Given the description of an element on the screen output the (x, y) to click on. 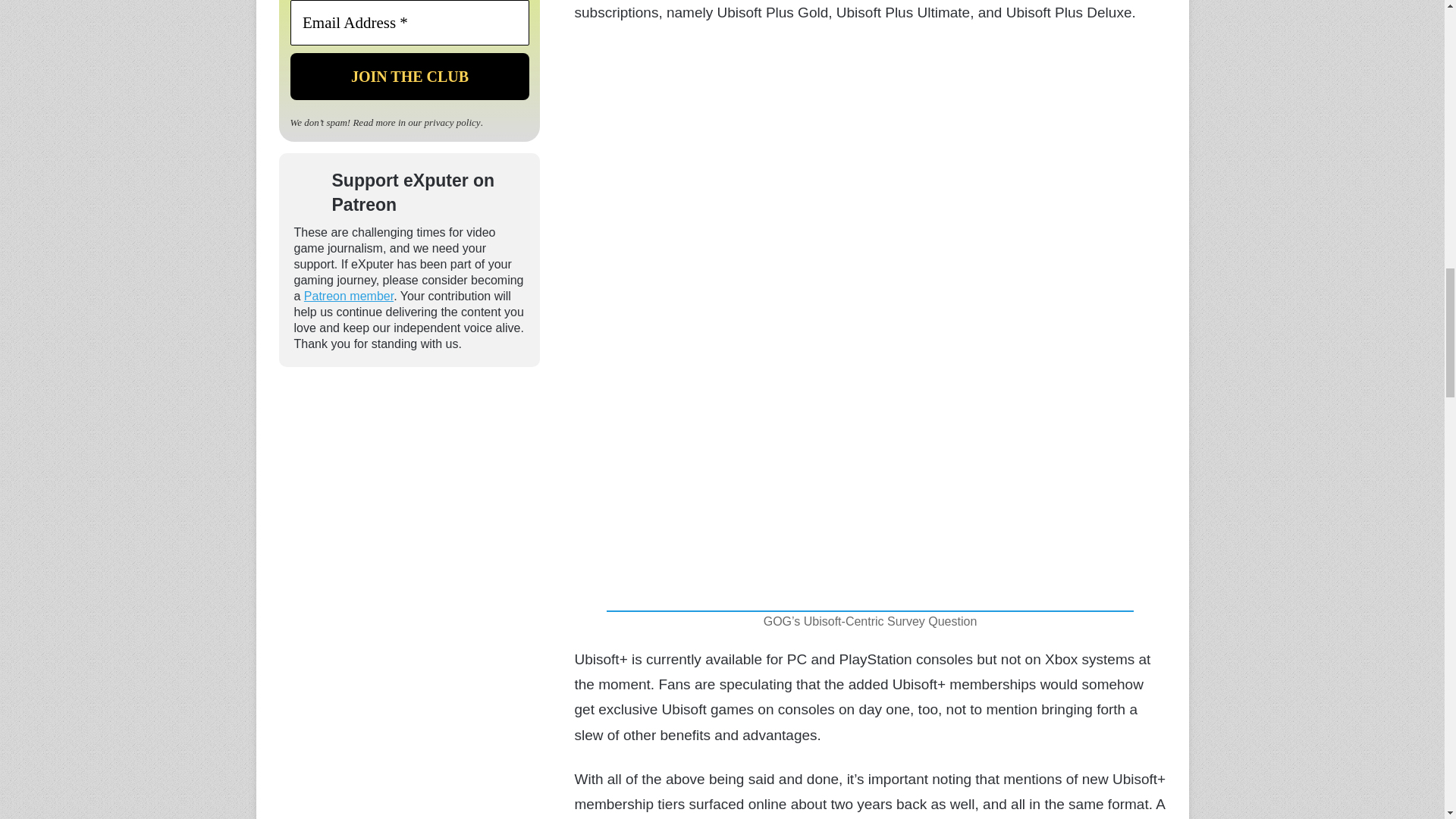
Email Address (408, 22)
JOIN THE  CLUB (408, 76)
